Given the description of an element on the screen output the (x, y) to click on. 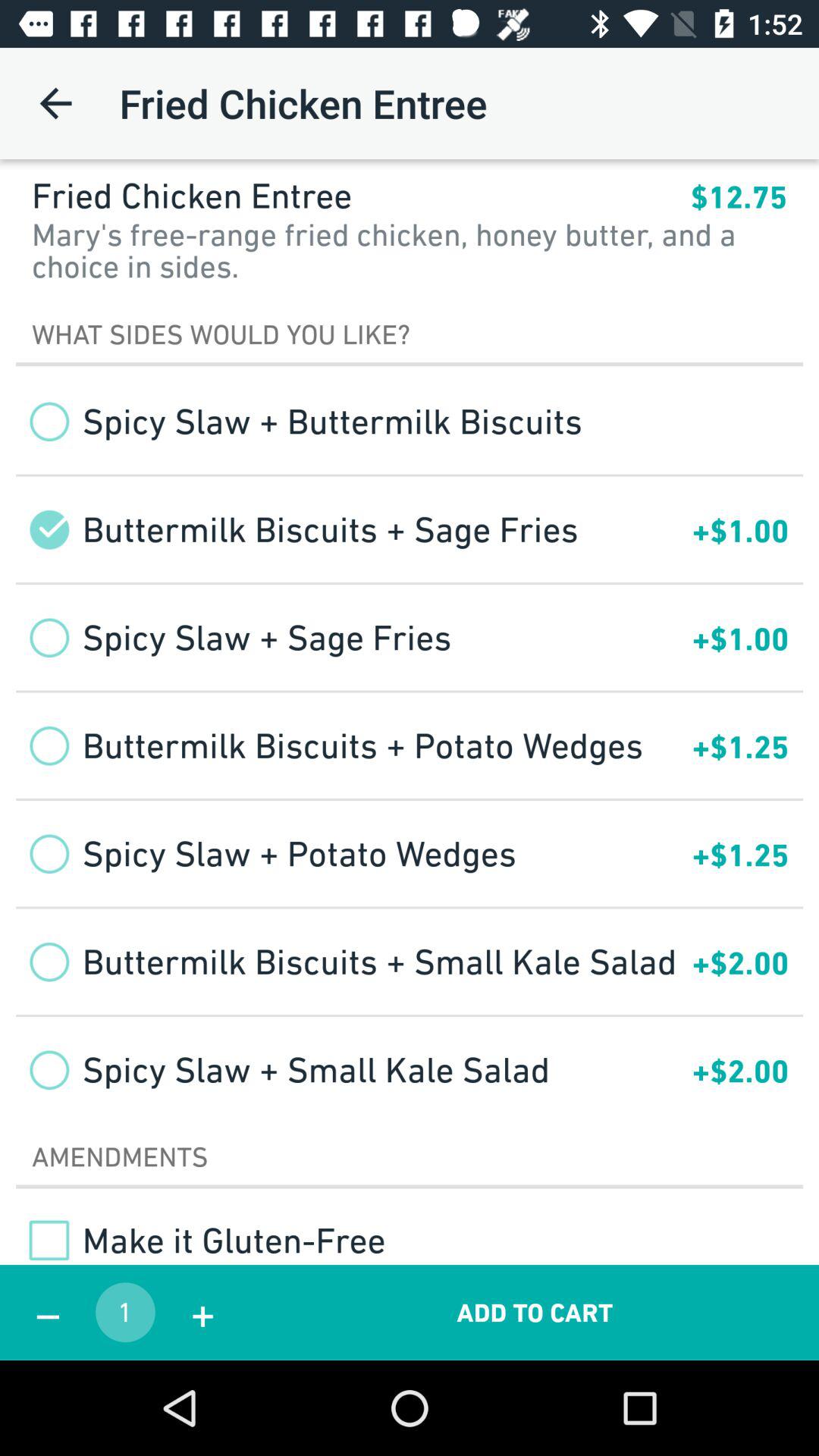
select icon next to the 1 app (47, 1312)
